Given the description of an element on the screen output the (x, y) to click on. 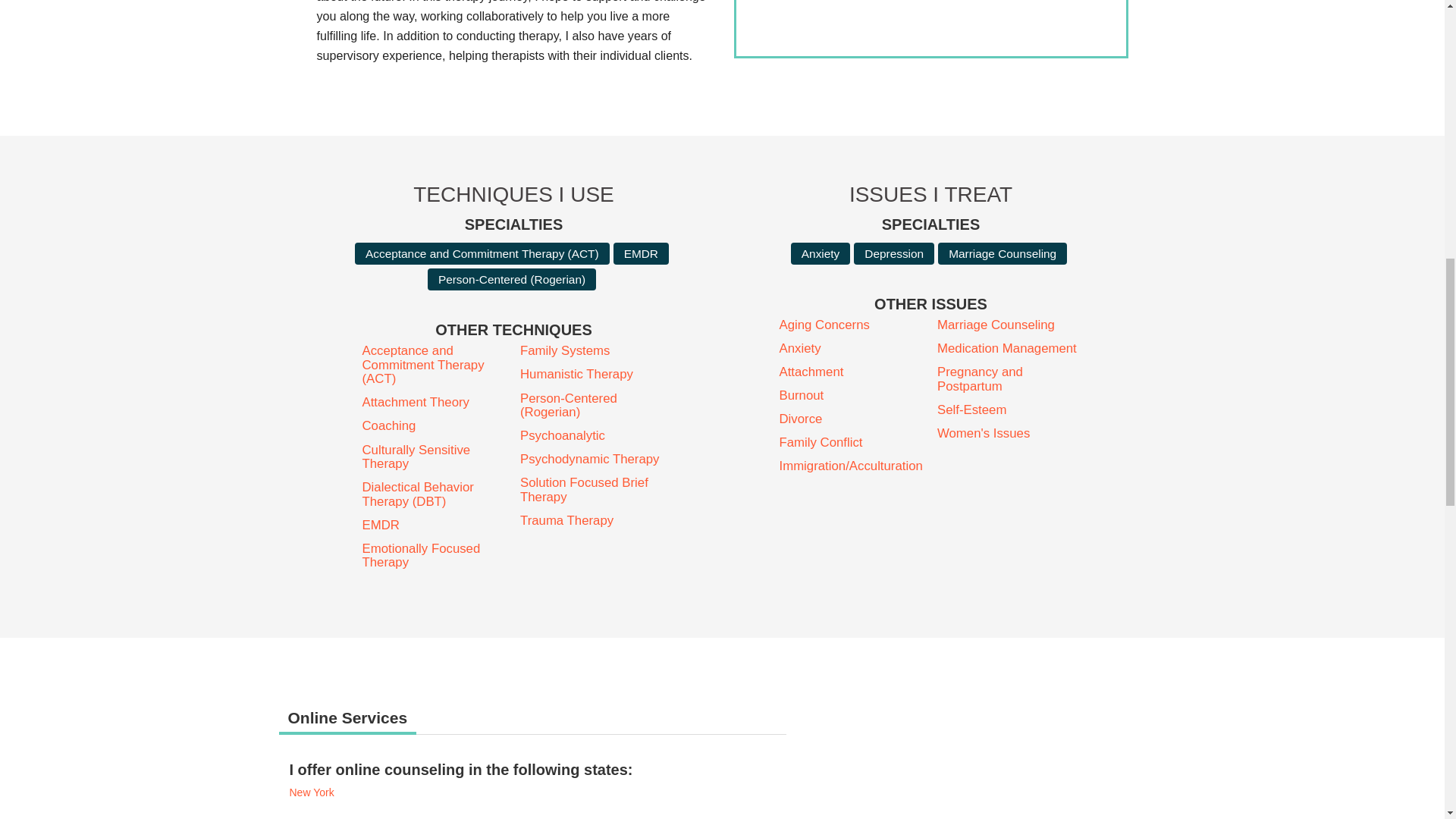
Learn about Coaching (435, 426)
Learn about Attachment Theory (435, 402)
EMDR (640, 253)
Dr. Angela Yeung's introduction (930, 28)
Learn about Culturally Sensitive Therapy (435, 457)
Learn about EMDR (640, 253)
